Given the description of an element on the screen output the (x, y) to click on. 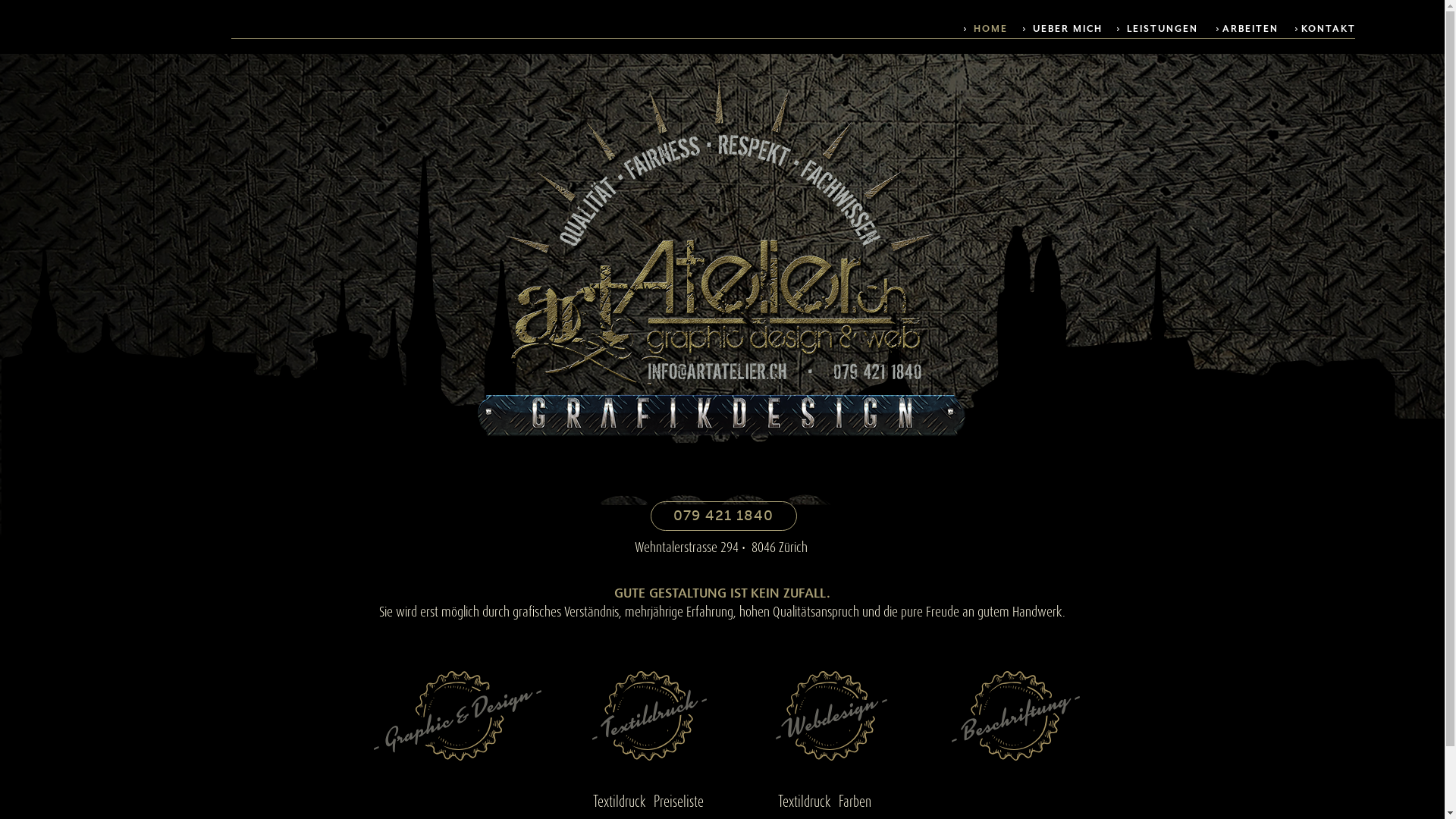
ARBEITEN Element type: text (1238, 27)
  HOME Element type: text (963, 27)
Textildruck  Farben Element type: text (824, 800)
Webdesign Element type: hover (830, 715)
Textildruck  Preiseliste Element type: text (647, 800)
Graphik & Design Element type: hover (456, 715)
Beschriftung Element type: hover (1014, 715)
KONTAKT Element type: text (1316, 27)
  LEISTUNGEN Element type: text (1150, 27)
Textildruck Element type: hover (648, 715)
  UEBER MICH Element type: text (1058, 27)
